Given the description of an element on the screen output the (x, y) to click on. 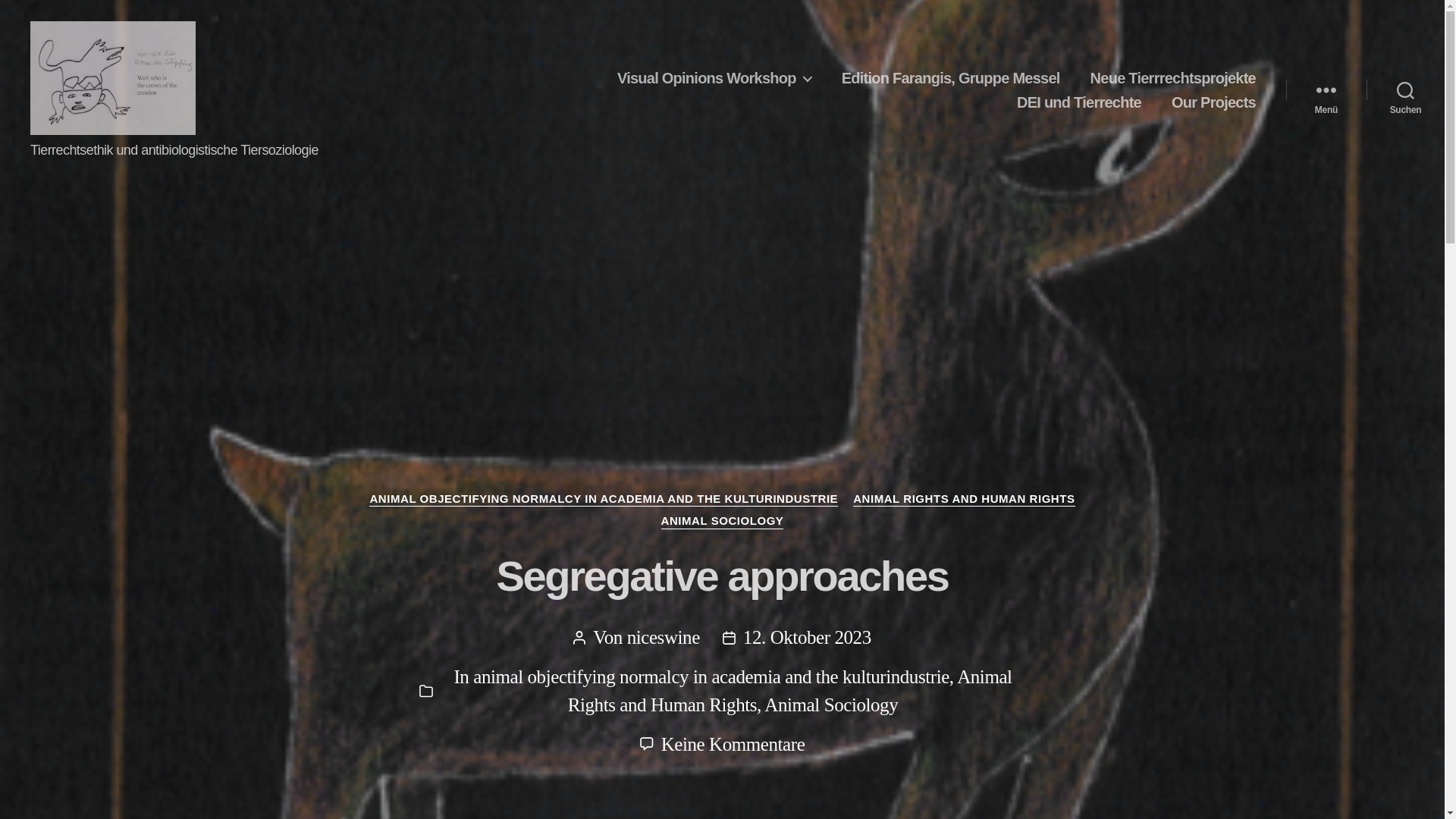
Edition Farangis, Gruppe Messel (950, 76)
ANIMAL SOCIOLOGY (722, 521)
niceswine (663, 637)
12. Oktober 2023 (806, 637)
DEI und Tierrechte (1078, 101)
Neue Tierrrechtsprojekte (1172, 76)
Our Projects (1213, 101)
Animal Rights and Human Rights (733, 743)
Animal Sociology (789, 689)
Visual Opinions Workshop (831, 704)
ANIMAL RIGHTS AND HUMAN RIGHTS (713, 76)
